Given the description of an element on the screen output the (x, y) to click on. 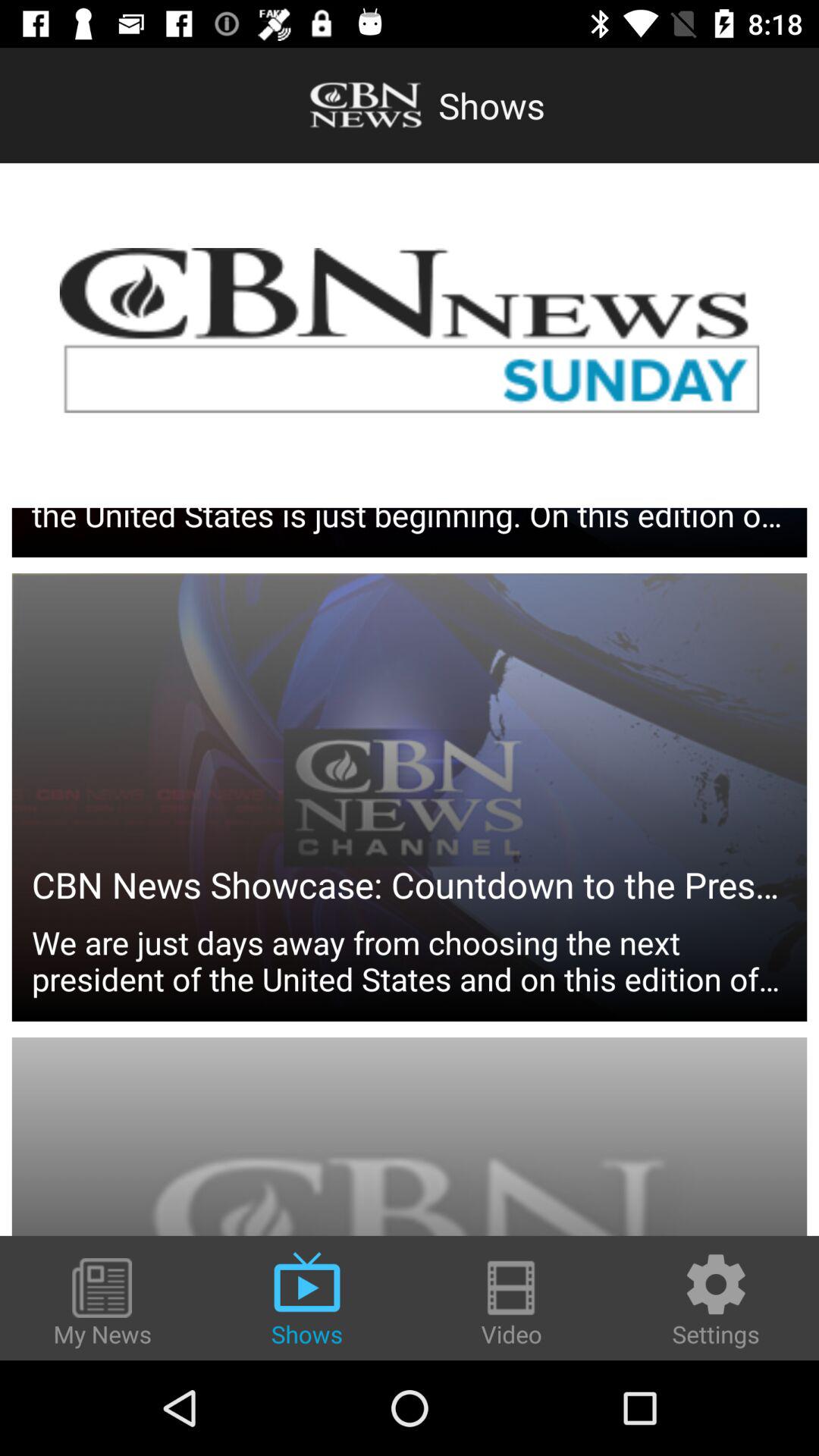
select my news at the bottom left corner (102, 1304)
